Given the description of an element on the screen output the (x, y) to click on. 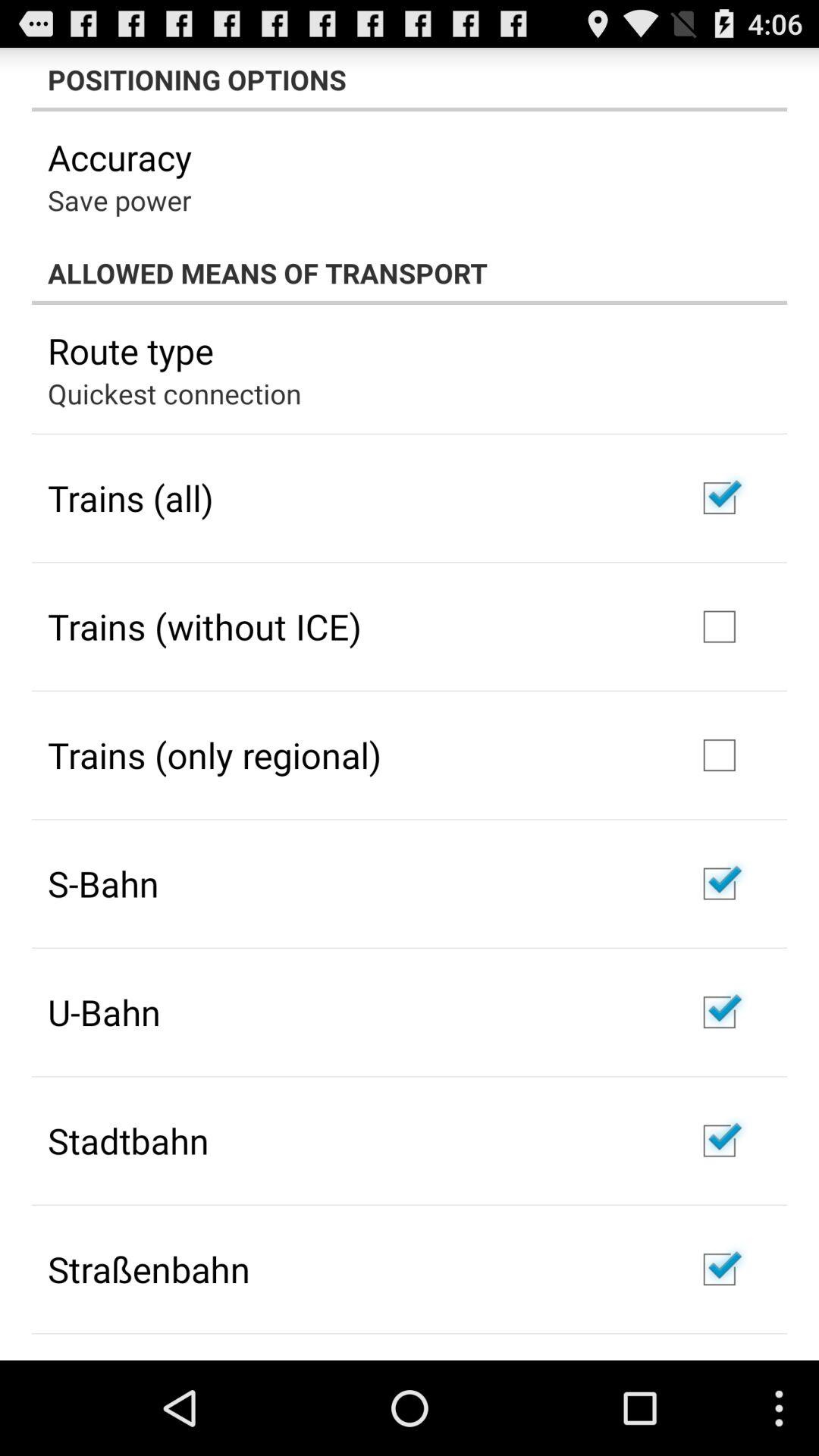
select icon below trains (only regional) (102, 883)
